Given the description of an element on the screen output the (x, y) to click on. 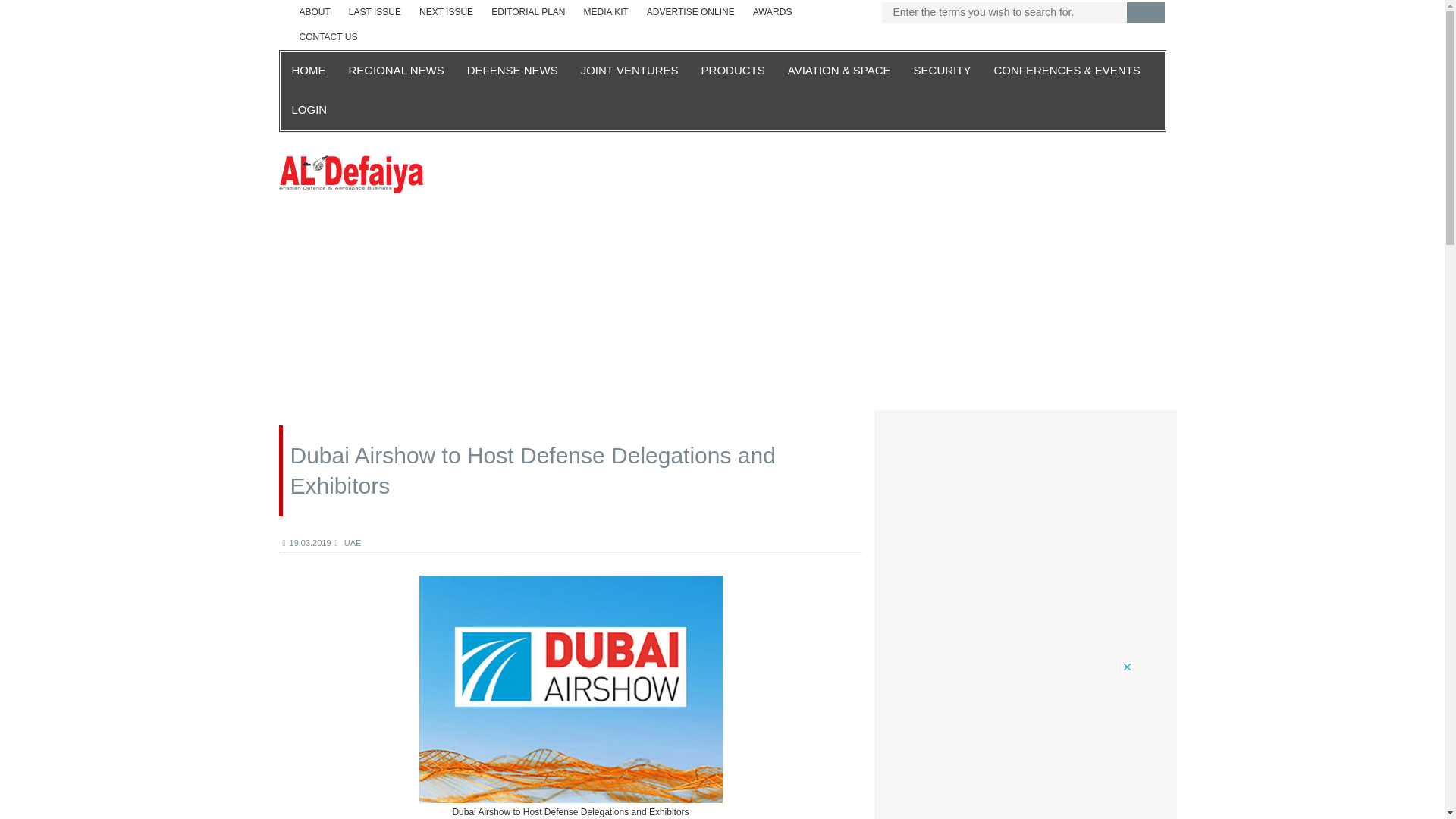
DEFENSE NEWS (512, 70)
ABOUT (314, 12)
UAE (347, 542)
Dubai Airshow to Host Defense Delegations and Exhibitors (570, 689)
3rd party ad content (1010, 311)
Search (1145, 12)
SECURITY (942, 70)
REGIONAL NEWS (395, 70)
NEXT ISSUE (445, 12)
LOGIN (310, 110)
3rd party ad content (433, 311)
LAST ISSUE (374, 12)
HOME (309, 70)
PRODUCTS (733, 70)
3rd party ad content (721, 311)
